Given the description of an element on the screen output the (x, y) to click on. 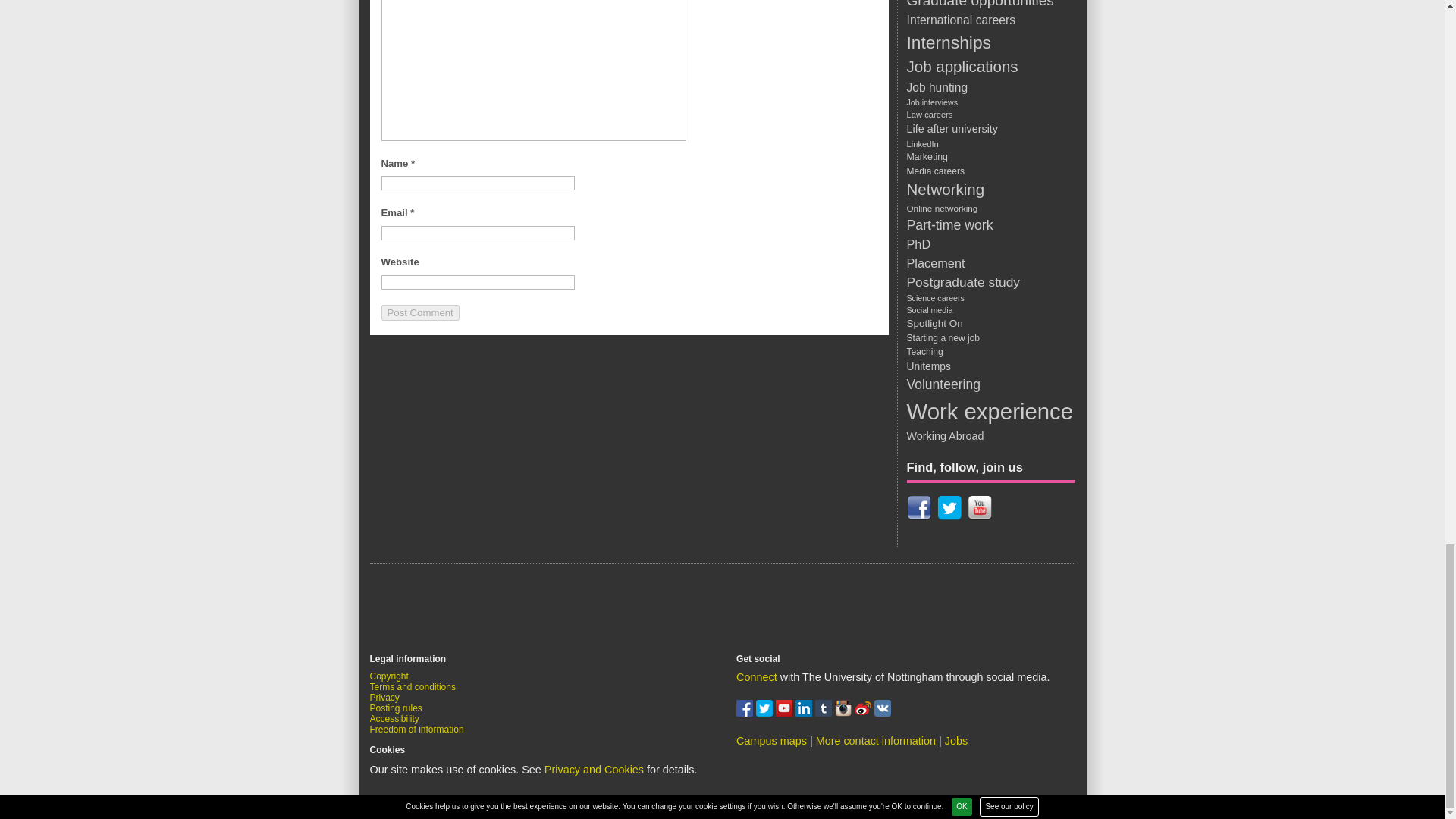
Freedom of information (416, 728)
Find us on facebook (745, 712)
Get Social with The University of Nottingham (756, 676)
Post Comment (419, 312)
Accessibility (394, 718)
Privacy (383, 697)
Follow us on twitter (765, 712)
Copyright  (389, 675)
Watch us on You Tube (785, 712)
Posting rules (395, 707)
Terms and conditions (412, 686)
